Given the description of an element on the screen output the (x, y) to click on. 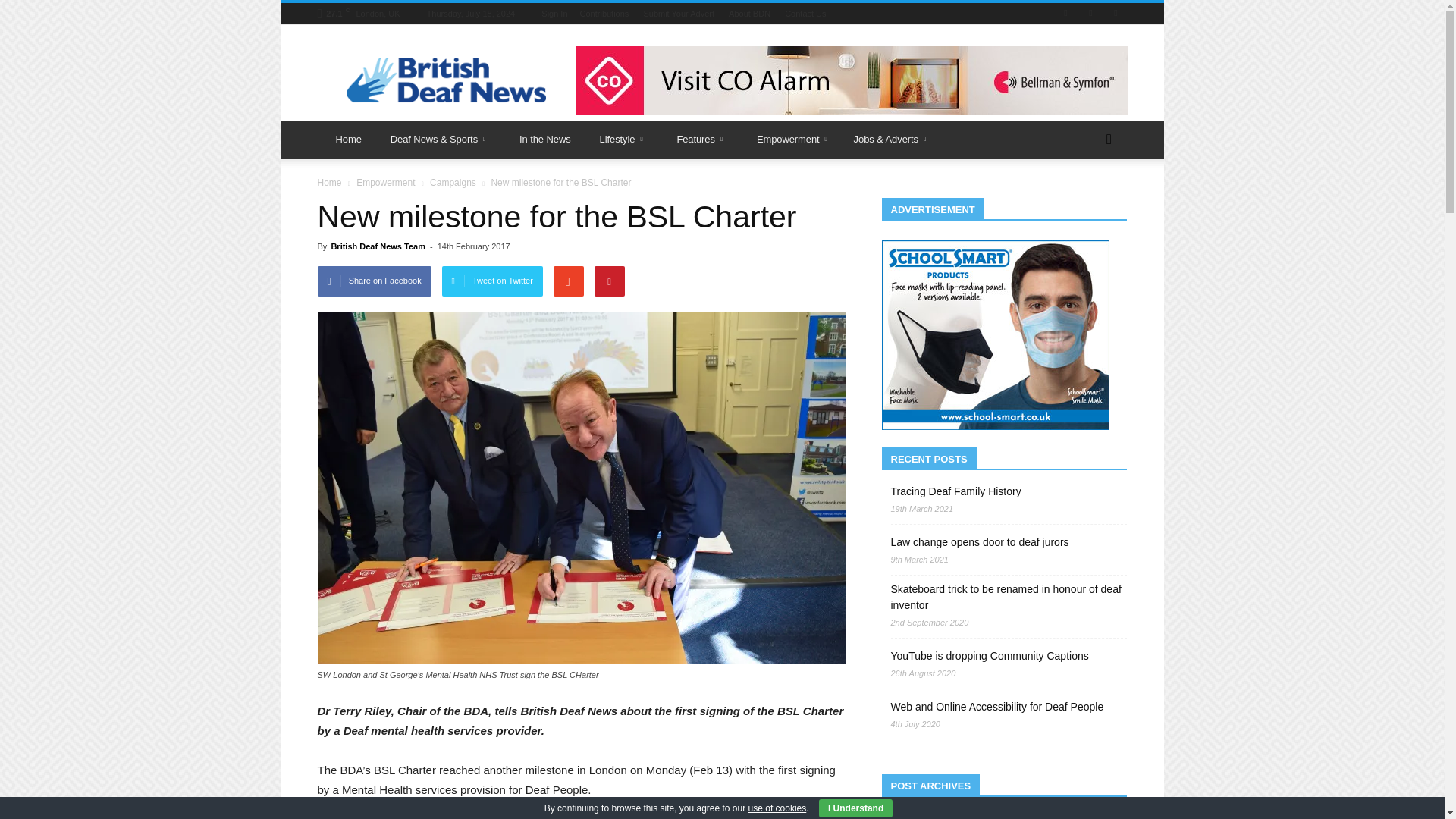
Instagram (1090, 13)
Twitter (1114, 13)
View all posts in Campaigns (452, 182)
View all posts in Empowerment (385, 182)
Facebook (1065, 13)
School Smart Products (994, 334)
